Given the description of an element on the screen output the (x, y) to click on. 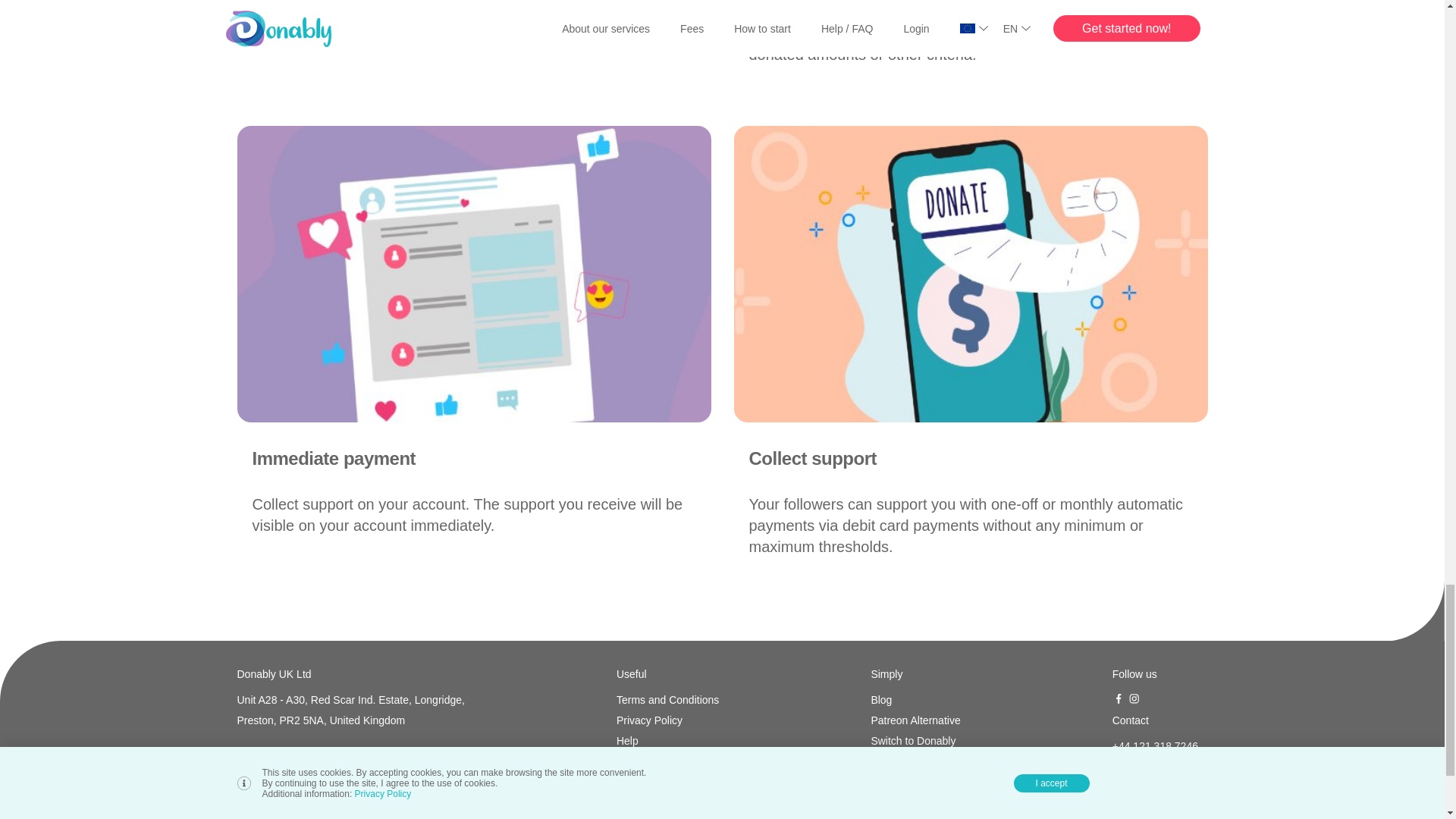
Blog (914, 700)
Terms and Conditions (667, 700)
Switch to Donably (914, 741)
Patreon Alternative (914, 720)
Privacy Policy (667, 720)
Help (667, 741)
